Given the description of an element on the screen output the (x, y) to click on. 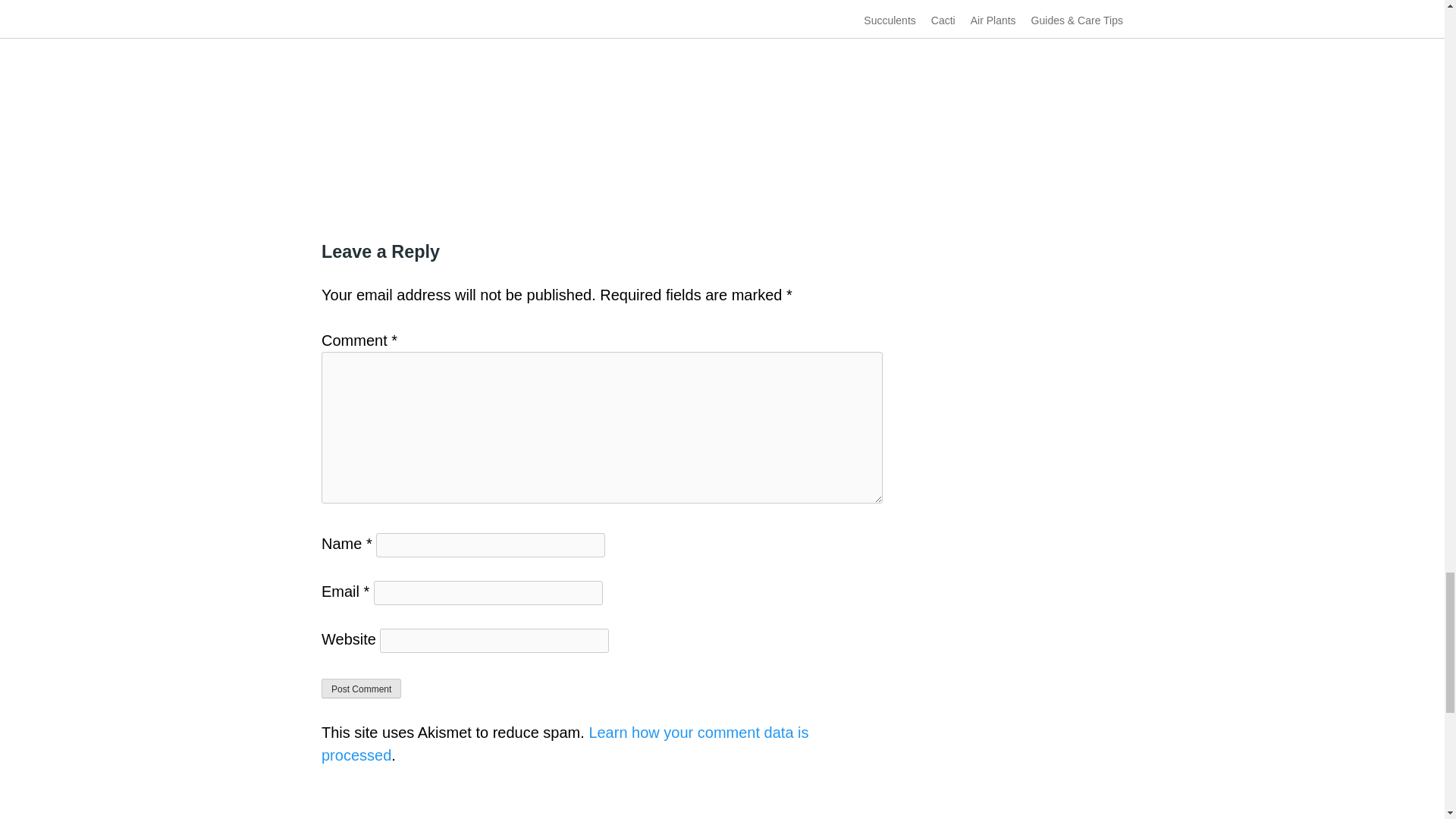
Post Comment (361, 688)
Learn how your comment data is processed (565, 743)
Post Comment (361, 688)
